Given the description of an element on the screen output the (x, y) to click on. 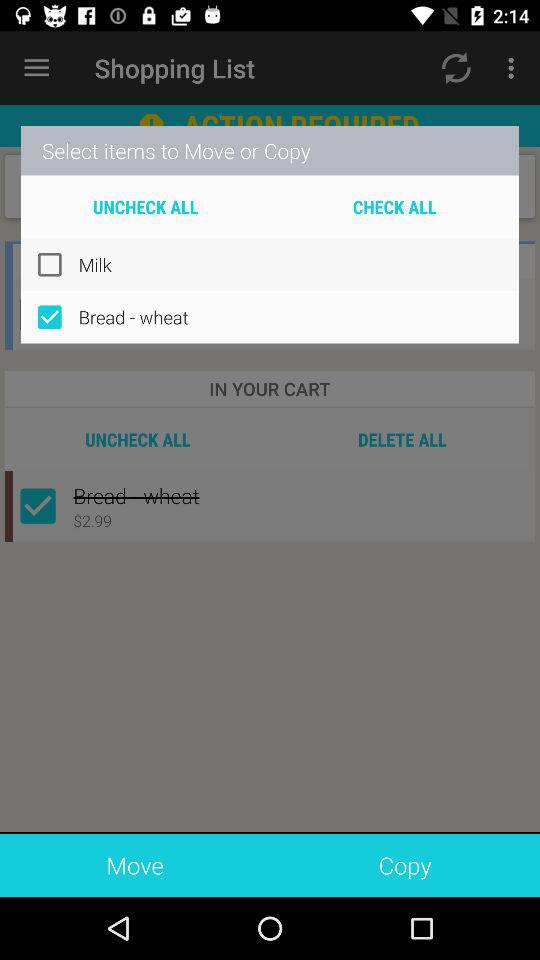
click icon to the left of the check all icon (145, 206)
